Given the description of an element on the screen output the (x, y) to click on. 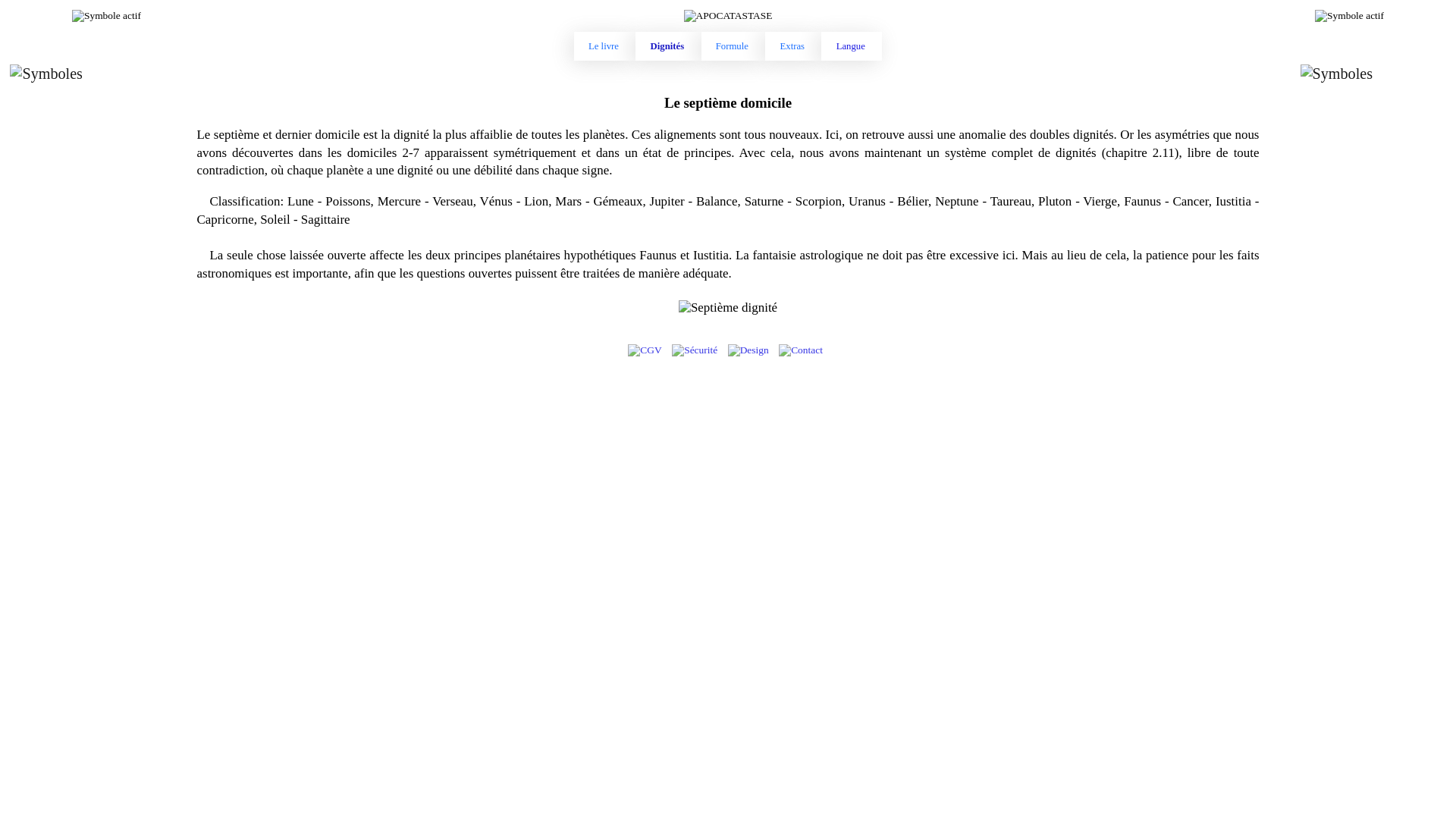
Design Element type: hover (748, 350)
Le livre  Element type: text (605, 45)
Extras  Element type: text (793, 45)
CGV Element type: hover (644, 350)
Langue  Element type: text (851, 45)
Contact Element type: hover (800, 350)
Formule  Element type: text (733, 45)
